Given the description of an element on the screen output the (x, y) to click on. 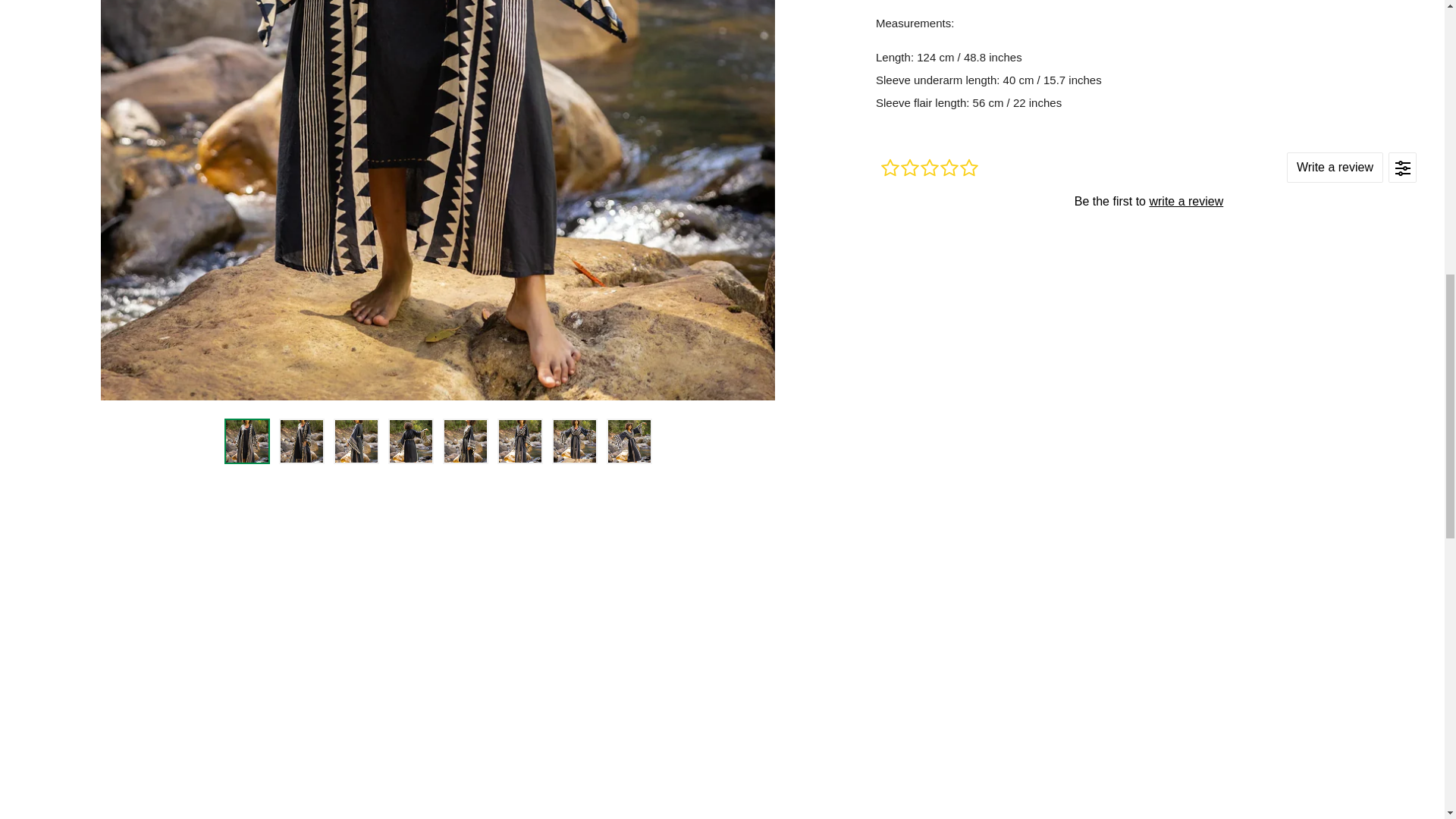
Product reviews widget (1149, 200)
